Given the description of an element on the screen output the (x, y) to click on. 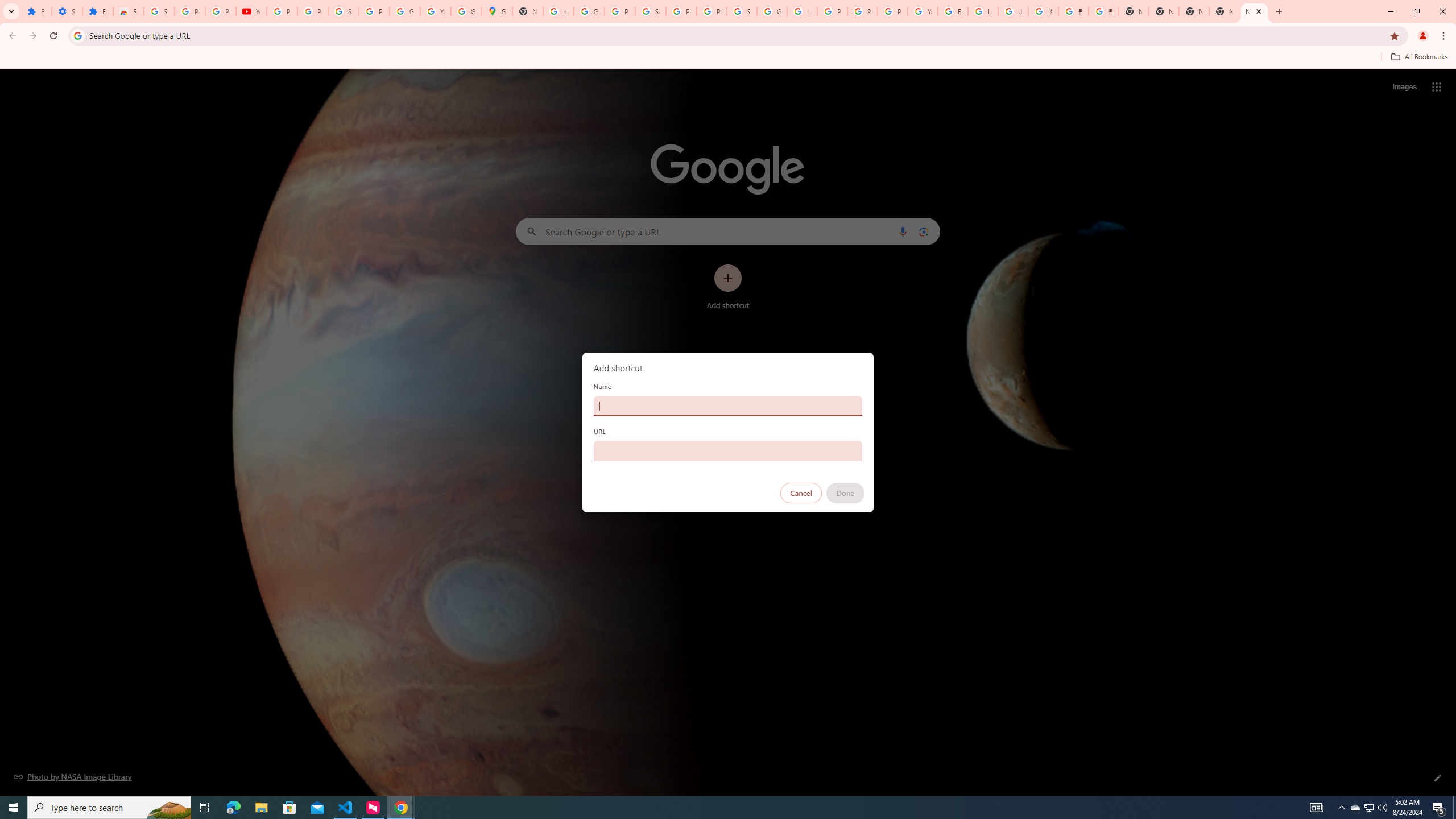
Reviews: Helix Fruit Jump Arcade Game (127, 11)
YouTube (251, 11)
Name (727, 405)
Sign in - Google Accounts (741, 11)
